Given the description of an element on the screen output the (x, y) to click on. 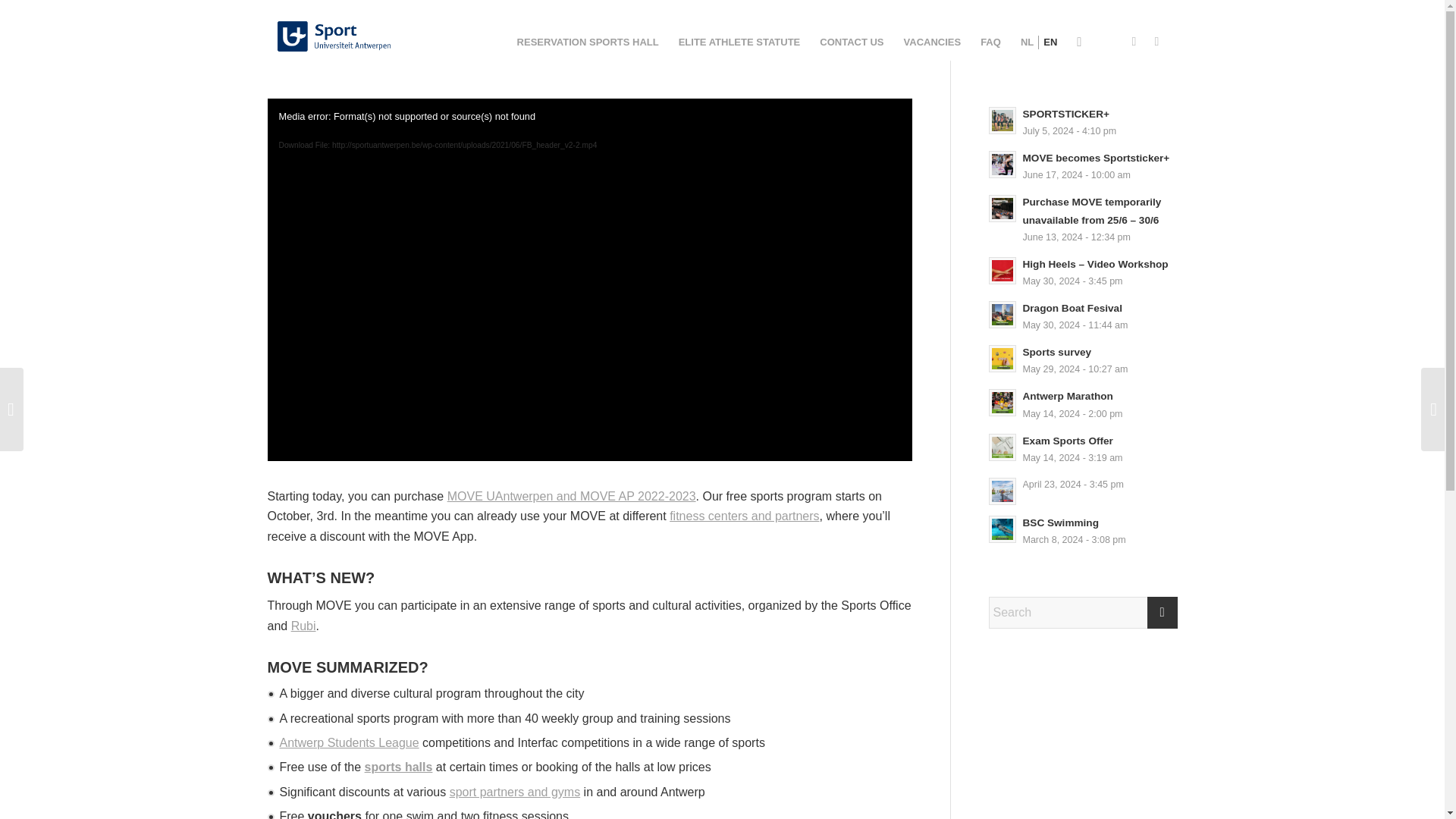
CONTACT US (851, 42)
ELITE ATHLETE STATUTE (739, 42)
VACANCIES (932, 42)
RESERVATION SPORTS HALL (587, 42)
sport partners and gyms (514, 791)
Facebook (1155, 41)
Read: Dragon Boat Fesival (1002, 314)
MOVE UAntwerpen and MOVE AP 2022-2023 (570, 495)
Antwerp Students League (349, 742)
Sport Universiteit Antwerpen logo-afmetingen website-01 (333, 36)
Instagram (1133, 41)
Read: Dragon Boat Fesival (1071, 307)
fitness centers and partners (743, 515)
sports halls (398, 766)
Rubi (303, 625)
